Given the description of an element on the screen output the (x, y) to click on. 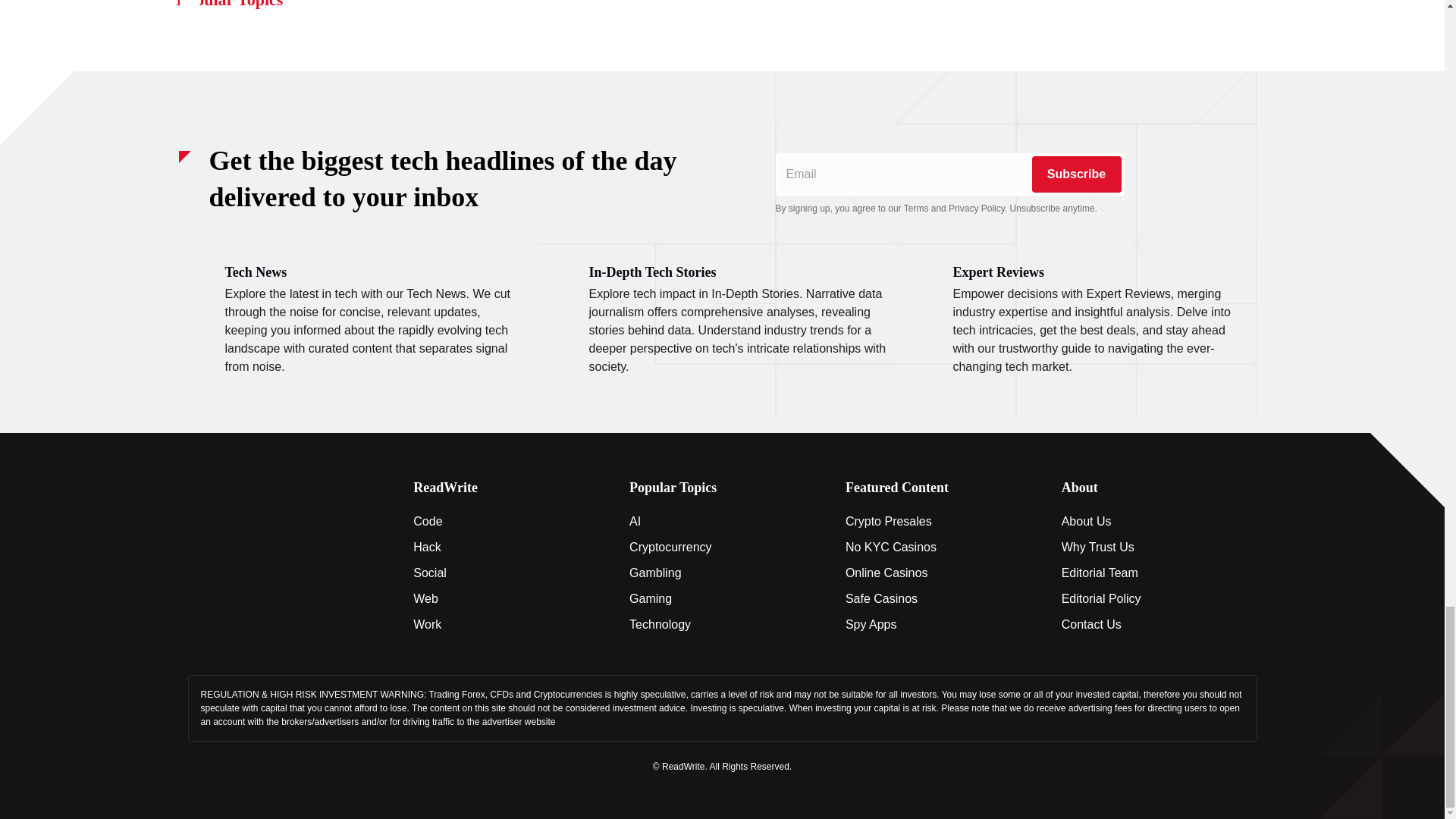
Subscribe (1075, 174)
